Given the description of an element on the screen output the (x, y) to click on. 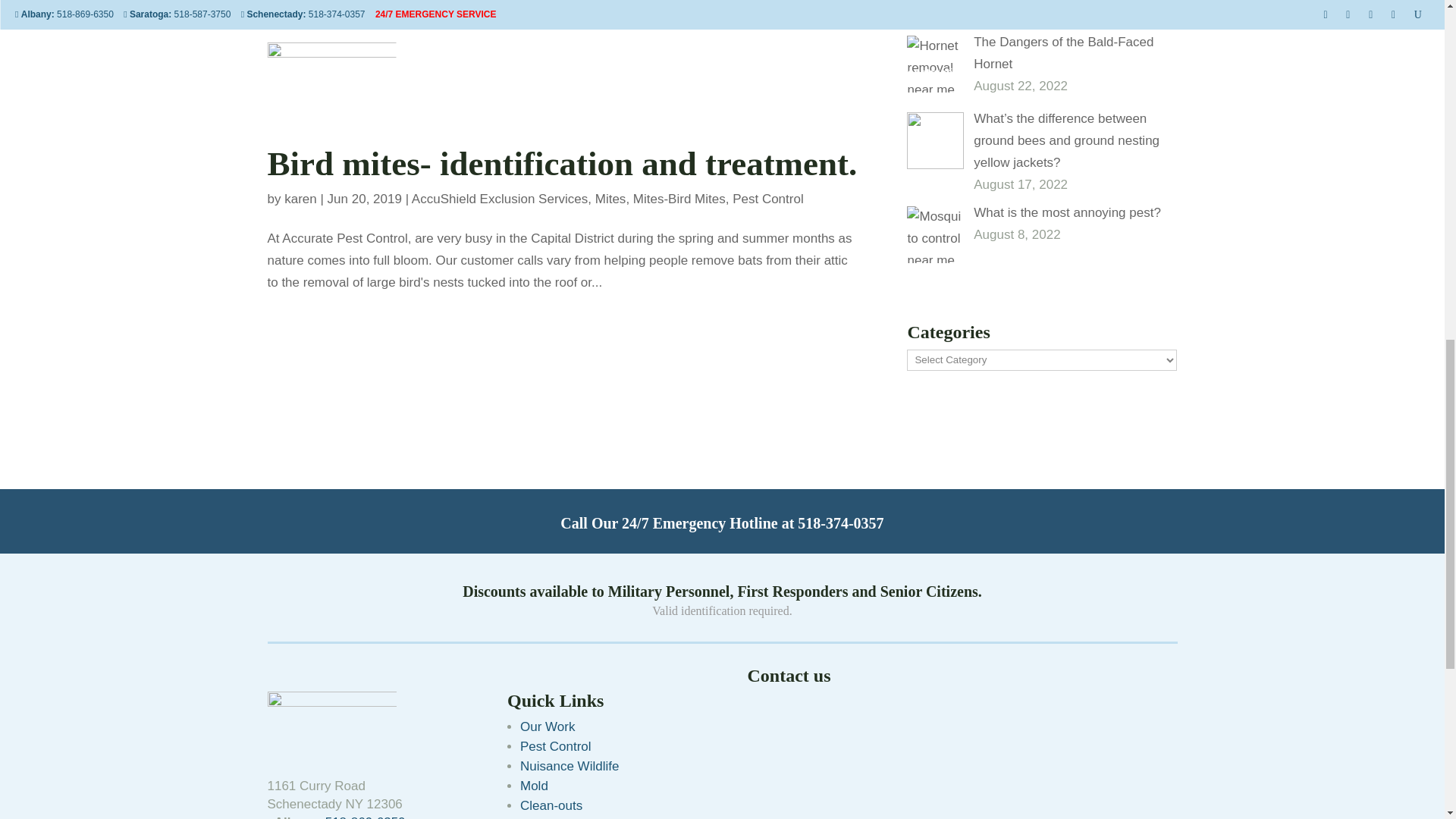
Our Work (547, 726)
518-869-6350 (365, 816)
Nuisance Wildlife (568, 766)
518-374-0357 (840, 523)
52171b8 (331, 721)
Bird mites- identification and treatment. (561, 163)
Mites-Bird Mites (679, 198)
The Dangers of the Bald-Faced Hornet (1063, 53)
Pest Control (767, 198)
Pest Control (555, 746)
